Given the description of an element on the screen output the (x, y) to click on. 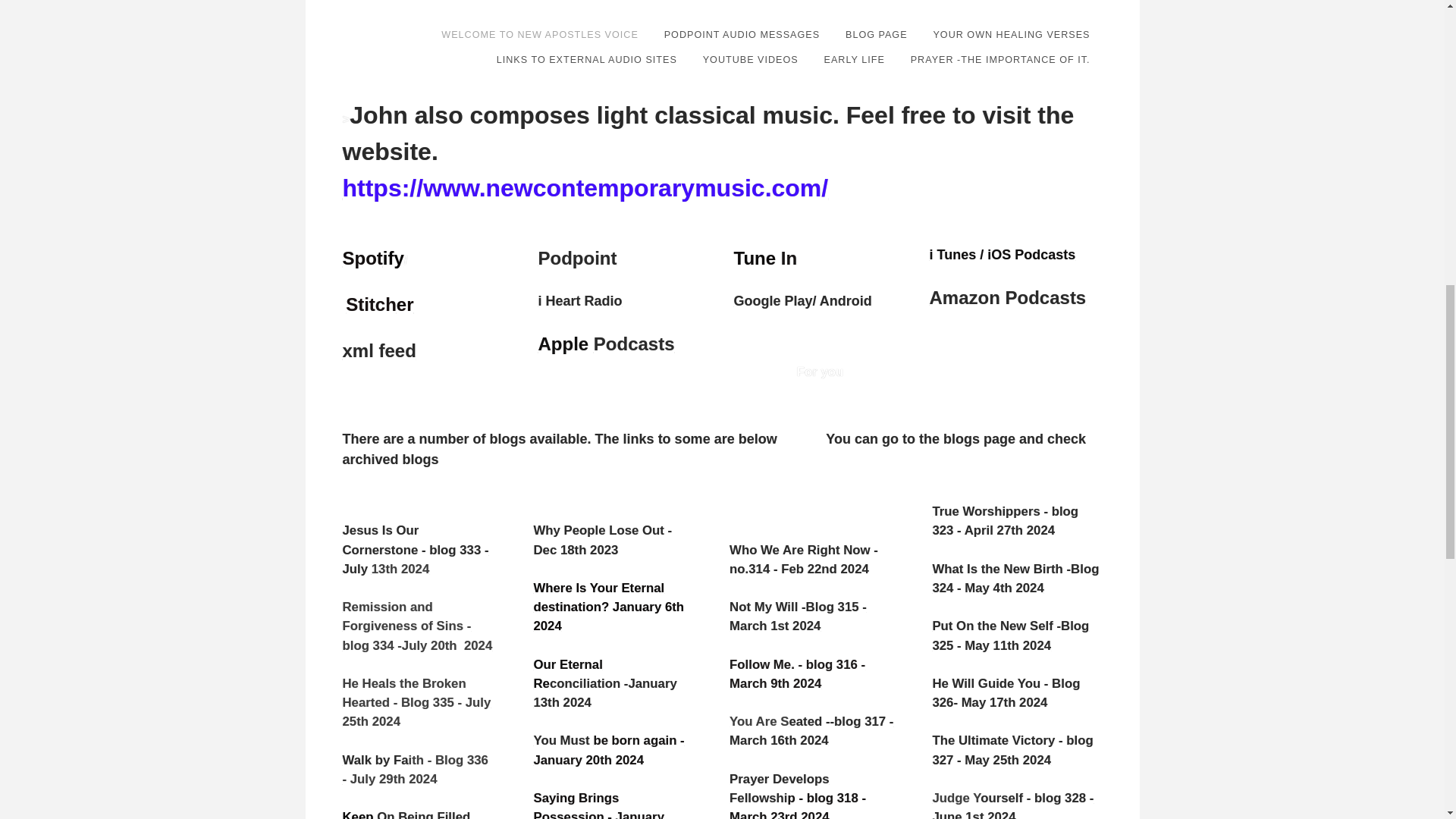
Jesus Is Our Cornerstone - blog 333 - July 13th 2024 (415, 549)
i Heart Radio (580, 301)
Stitcher (379, 304)
Spotify (373, 258)
Keep On Being Filled November 23rd 2023 (406, 814)
xml feed (379, 350)
Podpoint (577, 260)
Amazon Podcasts (1008, 299)
Walk by Faith - Blog 336 - July 29th 2024 (414, 769)
Apple Podcasts (606, 343)
Our Eternal Reconciliation -January 13th 2024 (604, 683)
Where Is Your Eternal destination? January 6th 2024 (608, 606)
He Heals the Broken Hearted - Blog 335 - July 25th 2024 (417, 702)
